Given the description of an element on the screen output the (x, y) to click on. 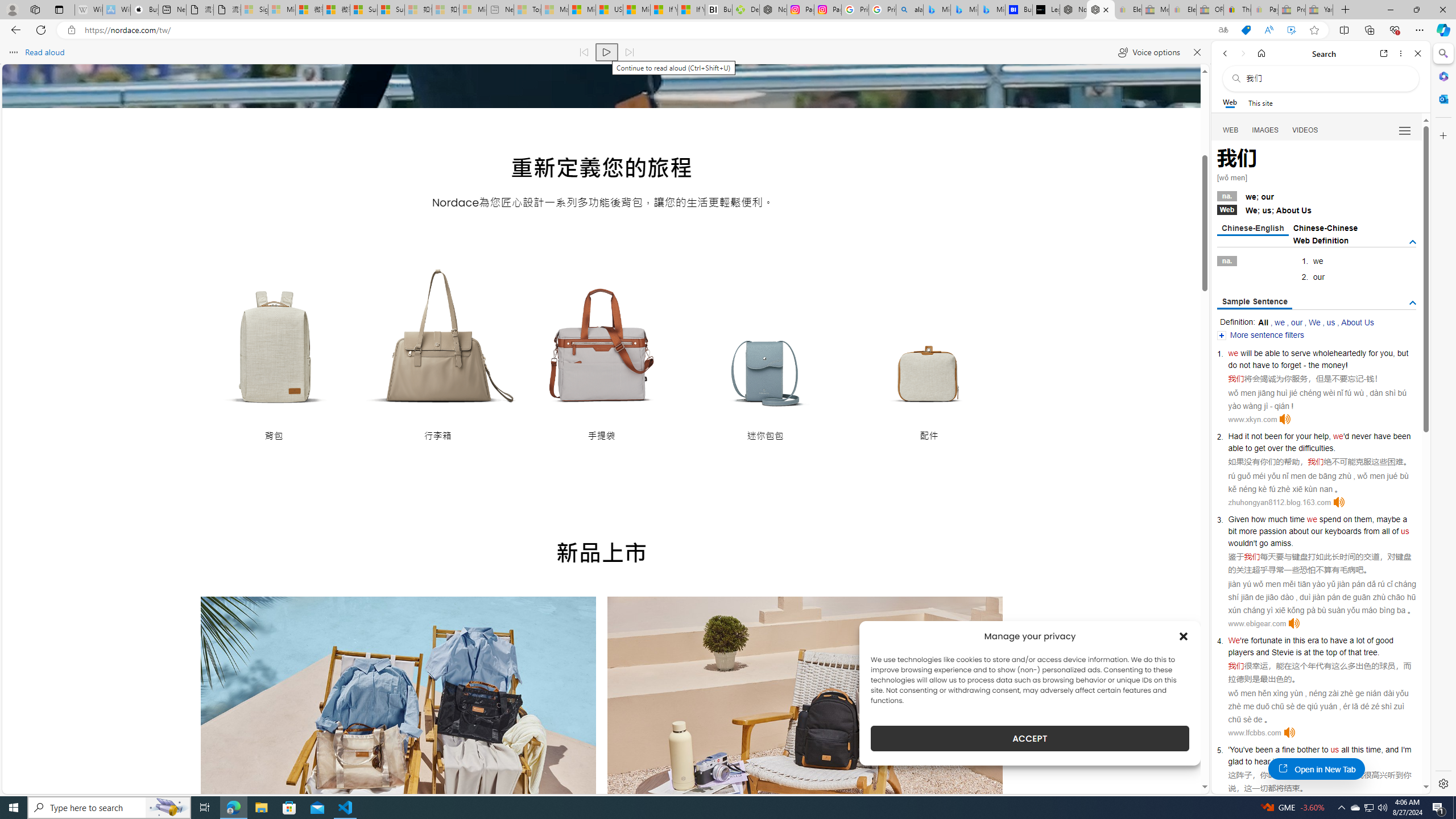
glad (1235, 760)
on (1347, 519)
, (1381, 749)
Us (1306, 209)
Previous (225, 780)
Microsoft account | Account Checkup - Sleeping (473, 9)
